Given the description of an element on the screen output the (x, y) to click on. 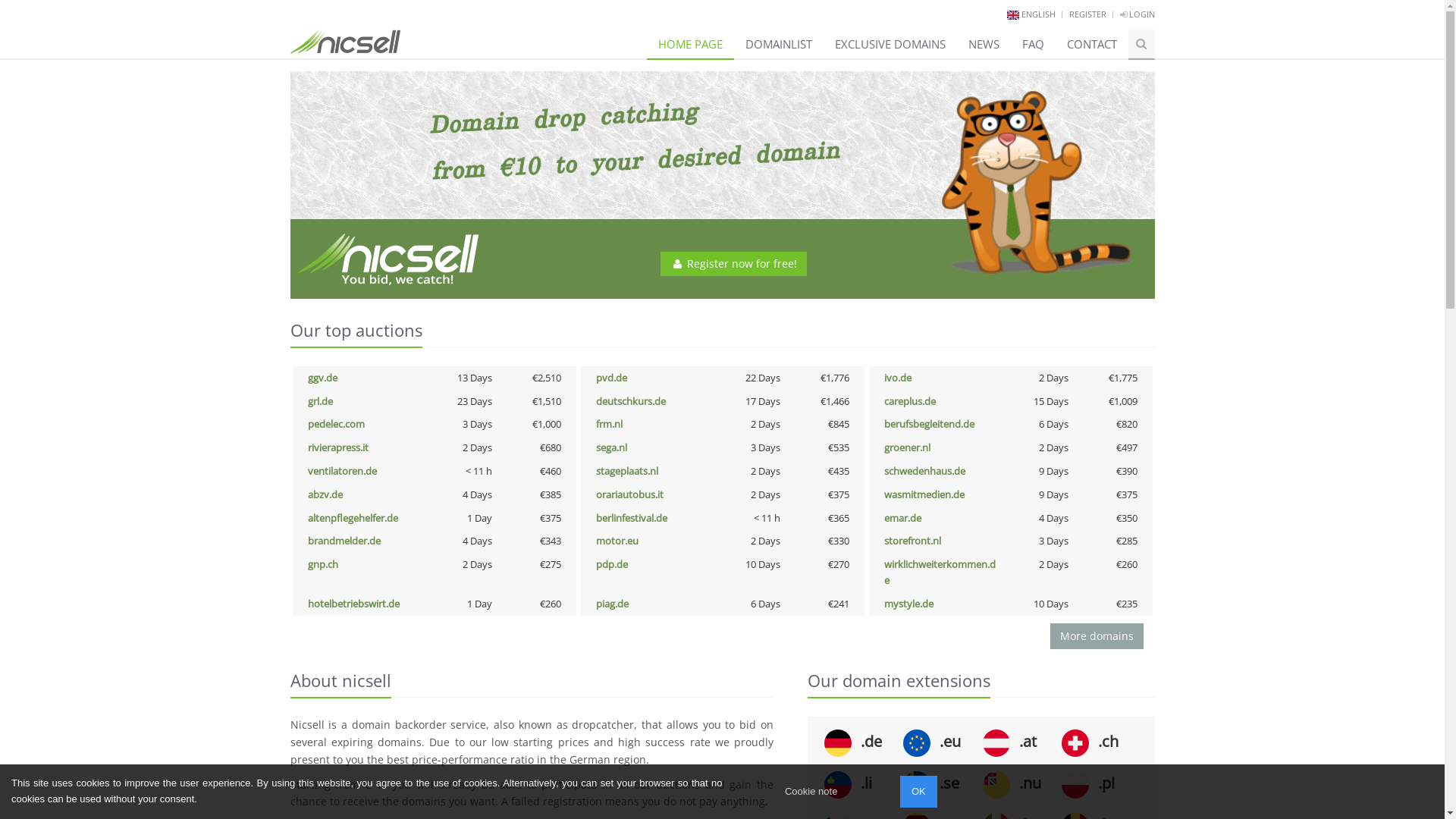
More domains Element type: text (1095, 636)
gnp.ch Element type: text (322, 564)
DOMAINLIST Element type: text (778, 44)
ventilatoren.de Element type: text (341, 470)
wirklichweiterkommen.de Element type: text (939, 571)
emar.de Element type: text (902, 517)
pedelec.com Element type: text (335, 423)
grl.de Element type: text (319, 400)
Home Element type: hover (344, 36)
rivierapress.it Element type: text (337, 447)
Register now for free! Element type: text (733, 263)
nicsell Banner Element type: hover (721, 184)
orariautobus.it Element type: text (629, 494)
motor.eu Element type: text (617, 540)
EXCLUSIVE DOMAINS Element type: text (890, 44)
ENGLISH Element type: text (1037, 13)
pvd.de Element type: text (611, 377)
HOME PAGE Element type: text (689, 44)
brandmelder.de Element type: text (343, 540)
FAQ Element type: text (1032, 44)
ggv.de Element type: text (322, 377)
careplus.de Element type: text (909, 400)
NEWS Element type: text (983, 44)
berufsbegleitend.de Element type: text (929, 423)
stageplaats.nl Element type: text (627, 470)
altenpflegehelfer.de Element type: text (352, 517)
REGISTER Element type: text (1087, 13)
mystyle.de Element type: text (908, 603)
piag.de Element type: text (612, 603)
berlinfestival.de Element type: text (631, 517)
hotelbetriebswirt.de Element type: text (353, 603)
frm.nl Element type: text (609, 423)
sega.nl Element type: text (611, 447)
schwedenhaus.de Element type: text (924, 470)
groener.nl Element type: text (907, 447)
ivo.de Element type: text (897, 377)
pdp.de Element type: text (611, 564)
deutschkurs.de Element type: text (630, 400)
wasmitmedien.de Element type: text (924, 494)
storefront.nl Element type: text (912, 540)
abzv.de Element type: text (324, 494)
CONTACT Element type: text (1091, 44)
Cookie note Element type: text (810, 792)
LOGIN Element type: text (1136, 13)
